Given the description of an element on the screen output the (x, y) to click on. 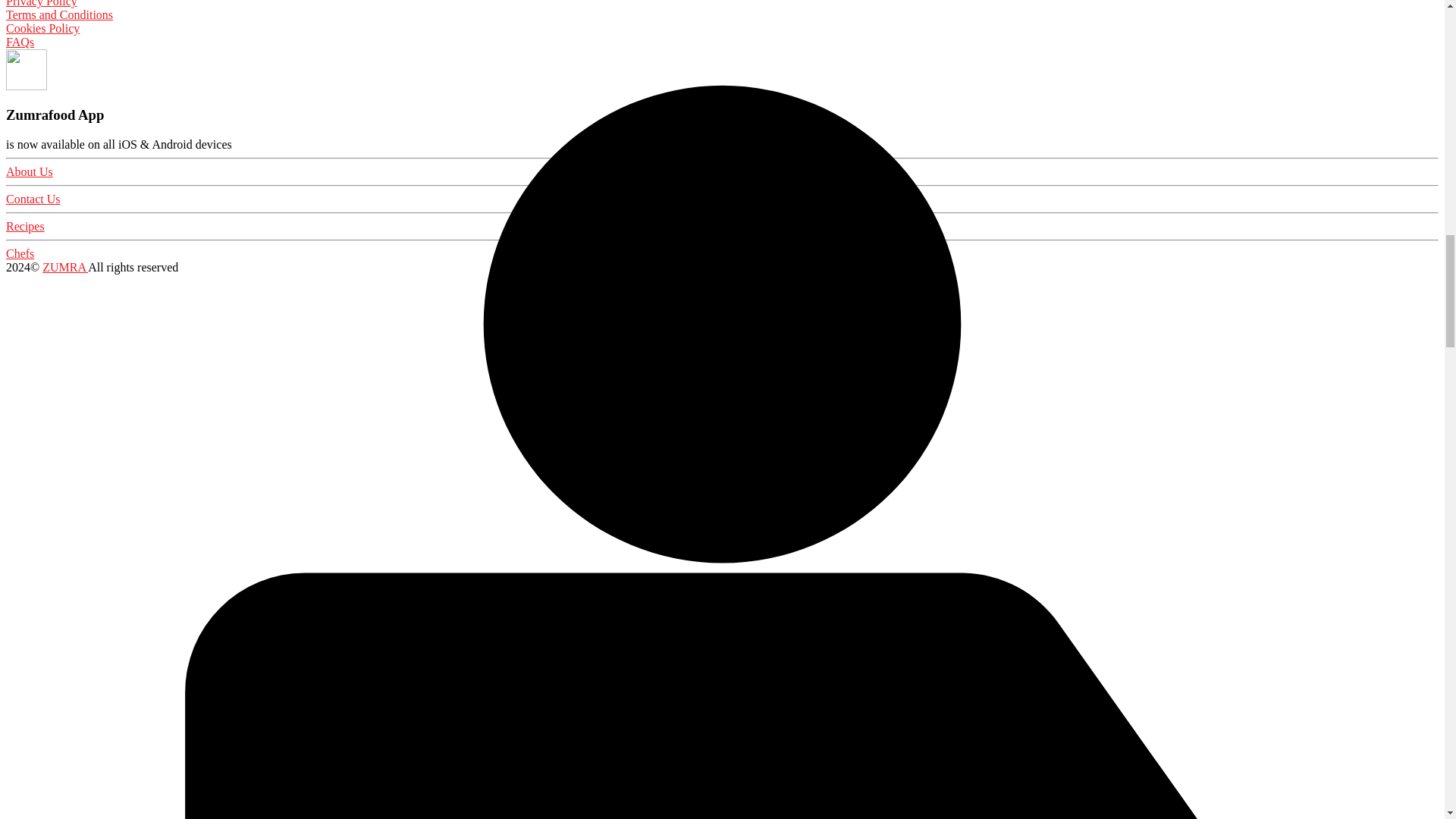
Terms and Conditions (59, 14)
FAQs (19, 42)
Chefs (19, 253)
Privacy Policy (41, 3)
Contact Us (33, 198)
Recipes (25, 226)
About Us (28, 171)
ZUMRA (64, 267)
Cookies Policy (42, 28)
